Given the description of an element on the screen output the (x, y) to click on. 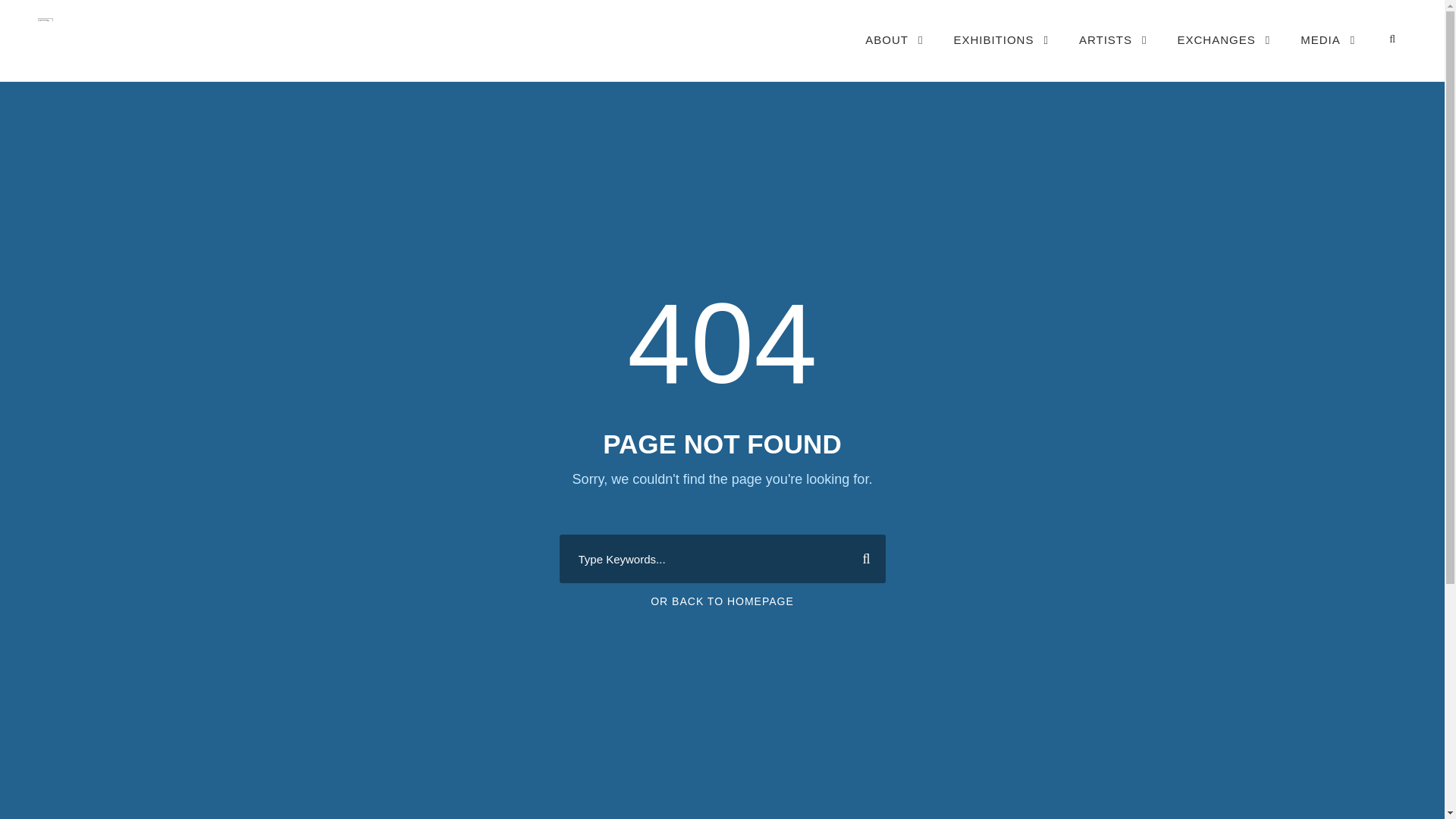
ABOUT (893, 55)
EXHIBITIONS (1000, 55)
Search (860, 558)
ARTISTS (1112, 55)
MEDIA (1327, 55)
aie logo3 (44, 19)
OR BACK TO HOMEPAGE (721, 601)
EXCHANGES (1224, 55)
